Given the description of an element on the screen output the (x, y) to click on. 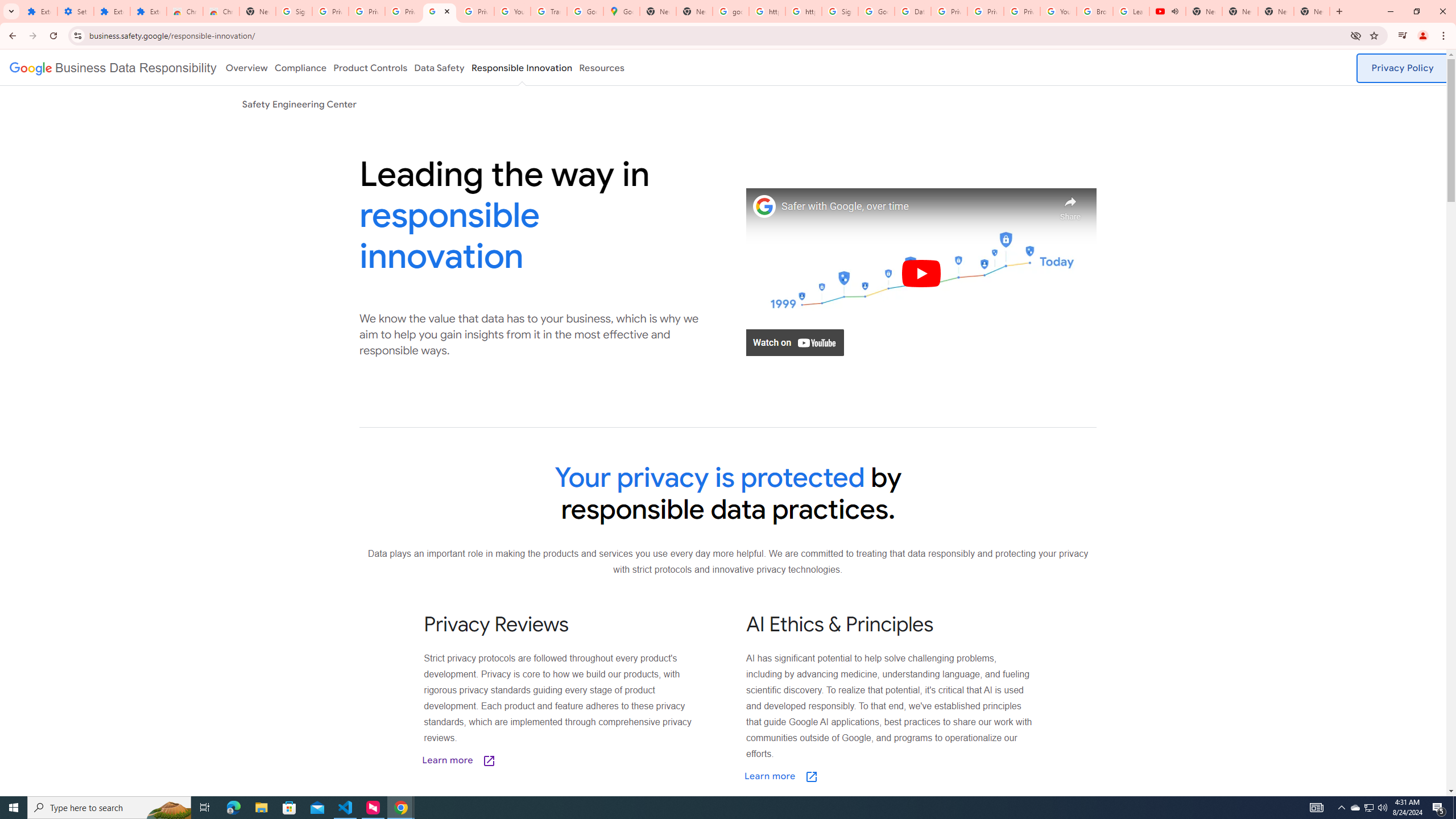
https://scholar.google.com/ (767, 11)
YouTube (512, 11)
Chrome (1445, 35)
Forward (32, 35)
Resources (601, 67)
Data Safety (438, 67)
Chrome Web Store - Themes (221, 11)
You (1422, 35)
New Tab (257, 11)
New Tab (1311, 11)
Settings (75, 11)
Reload (52, 35)
Sign in - Google Accounts (839, 11)
